Given the description of an element on the screen output the (x, y) to click on. 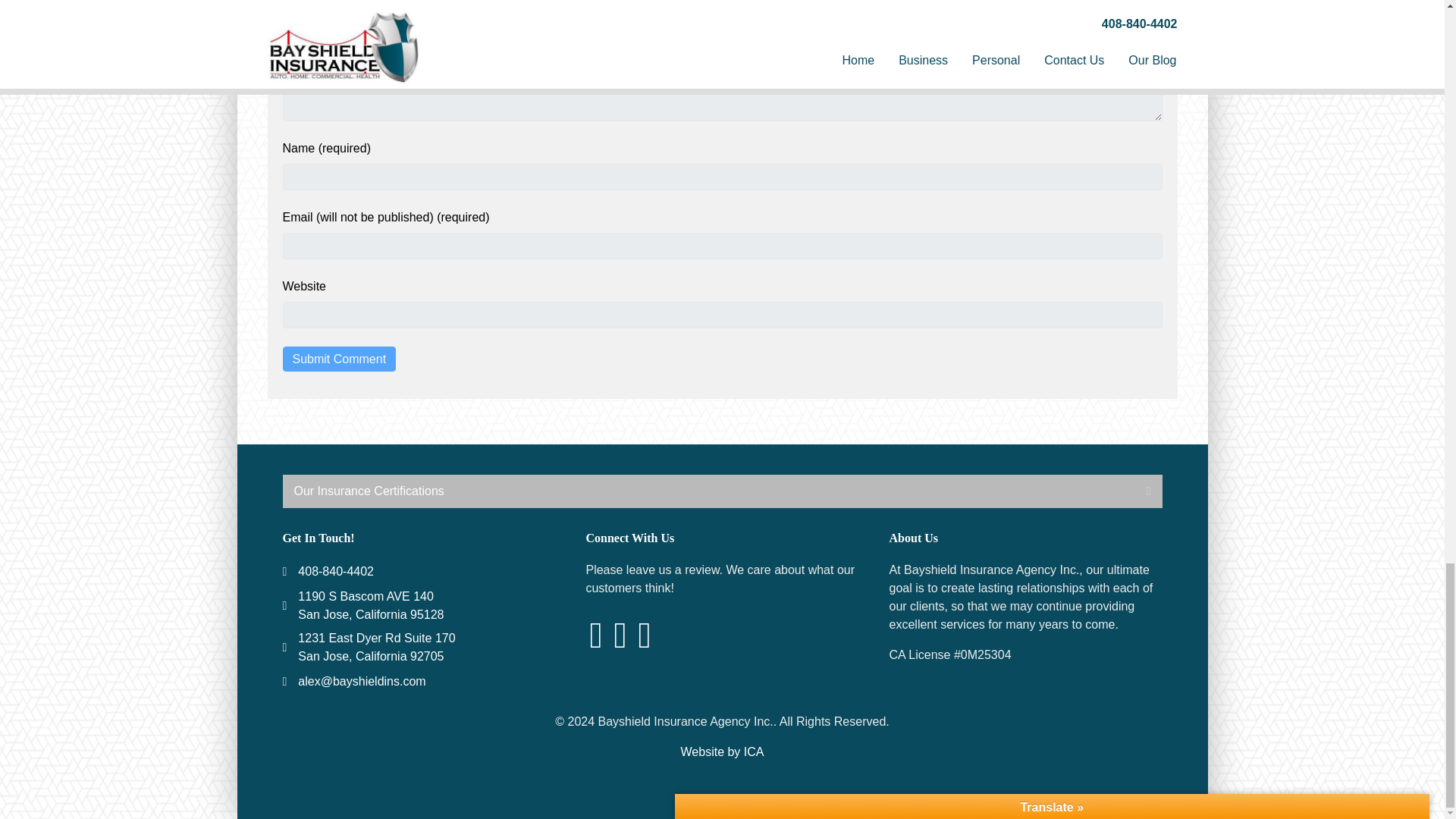
Submit Comment (339, 358)
